Given the description of an element on the screen output the (x, y) to click on. 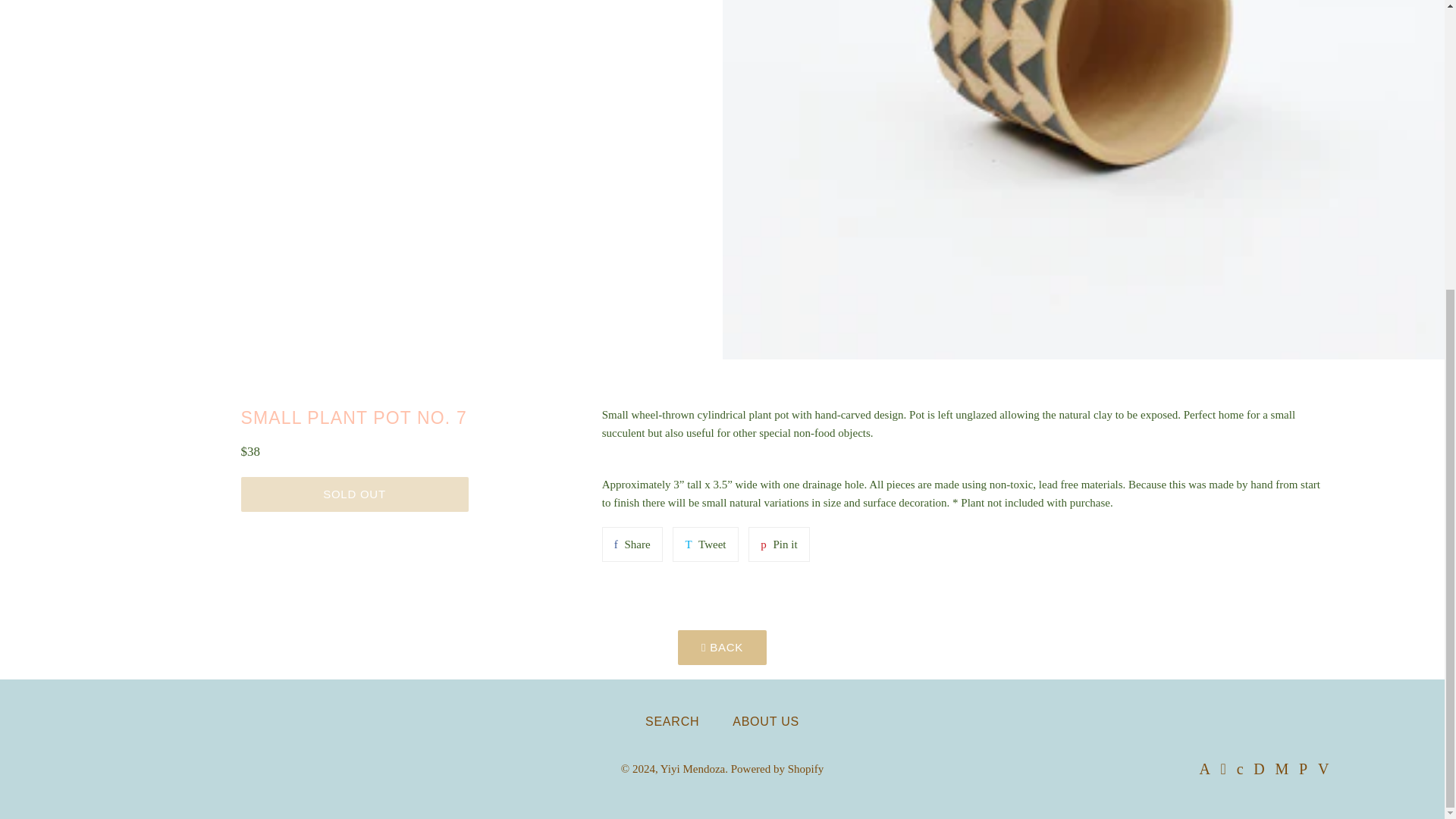
SEARCH (672, 721)
Pin on Pinterest (778, 544)
Yiyi Mendoza (778, 544)
BACK (693, 768)
Powered by Shopify (722, 647)
SOLD OUT (632, 544)
ABOUT US (777, 768)
Share on Facebook (705, 544)
Tweet on Twitter (354, 493)
